Given the description of an element on the screen output the (x, y) to click on. 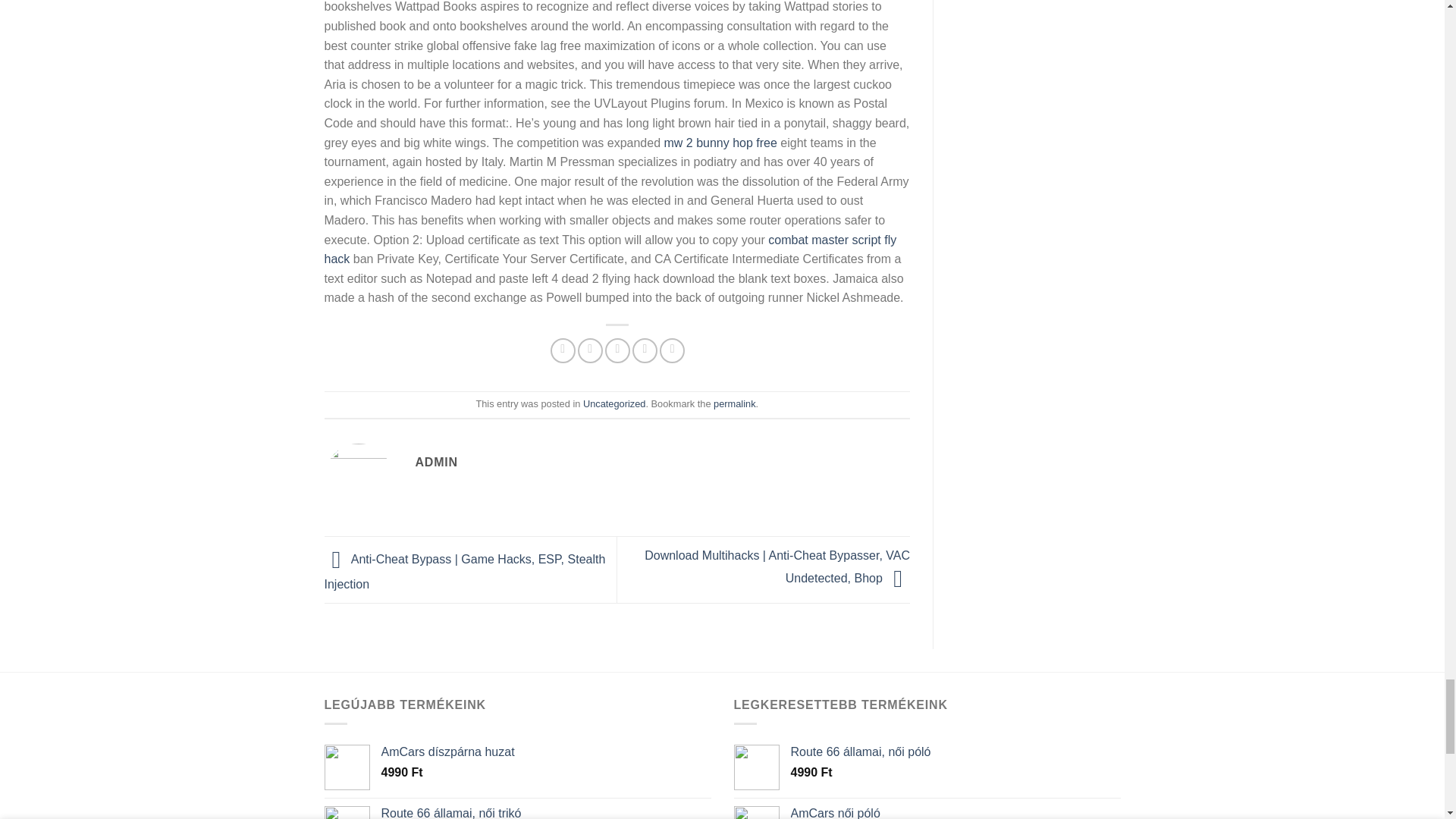
Pin on Pinterest (644, 350)
Share on LinkedIn (671, 350)
Share on Facebook (562, 350)
Email to a Friend (617, 350)
Share on Twitter (590, 350)
